Given the description of an element on the screen output the (x, y) to click on. 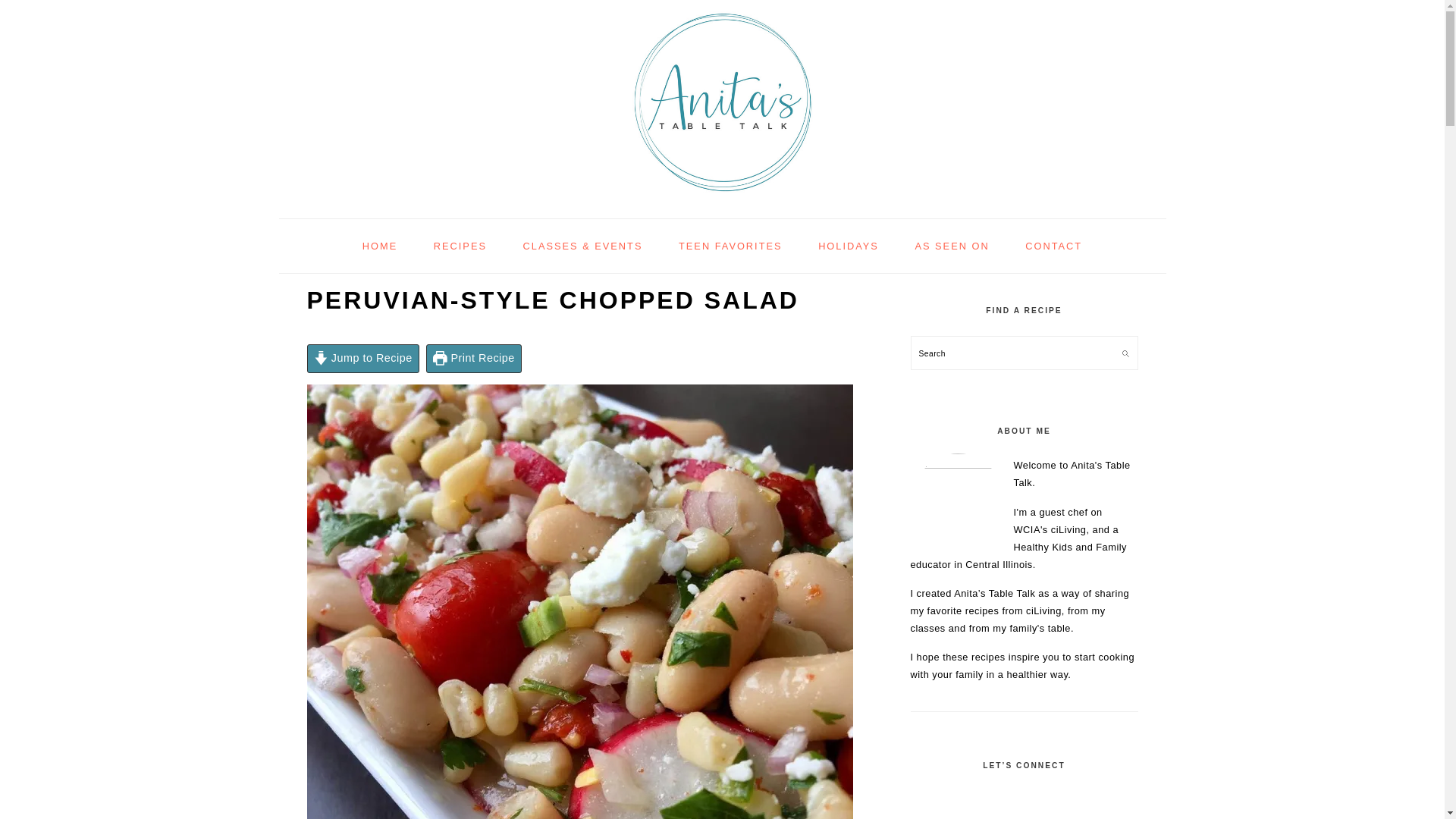
HOME (379, 245)
RECIPES (459, 245)
TEEN FAVORITES (729, 245)
HOLIDAYS (848, 245)
Anita's Table Talk (721, 99)
Anita's Table Talk (721, 201)
